Given the description of an element on the screen output the (x, y) to click on. 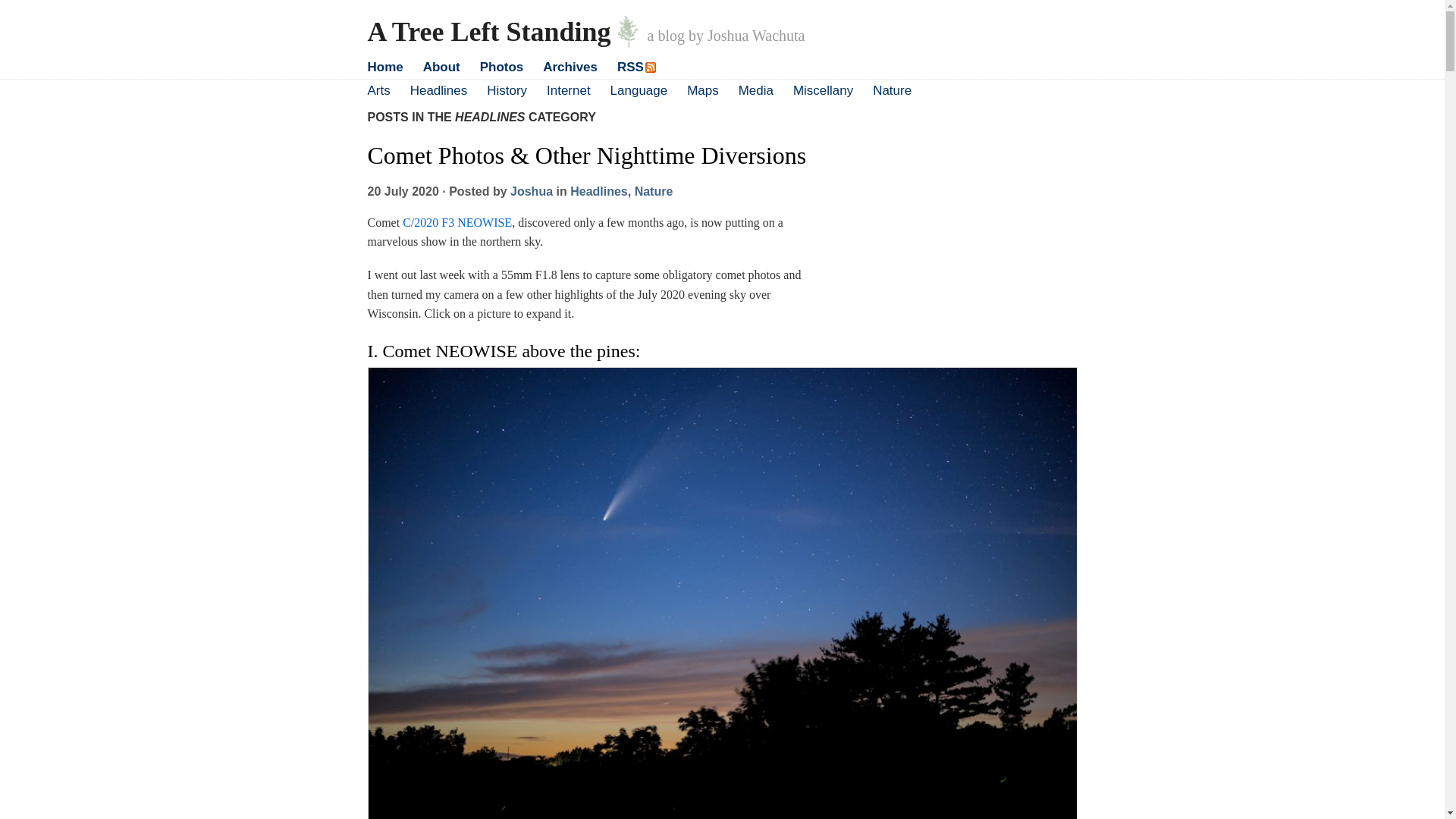
Language (639, 90)
Archives (569, 66)
Nature (891, 90)
Headlines (438, 90)
Media (755, 90)
About (441, 66)
History (506, 90)
Miscellany (823, 90)
Maps (703, 90)
Nature (653, 191)
